Given the description of an element on the screen output the (x, y) to click on. 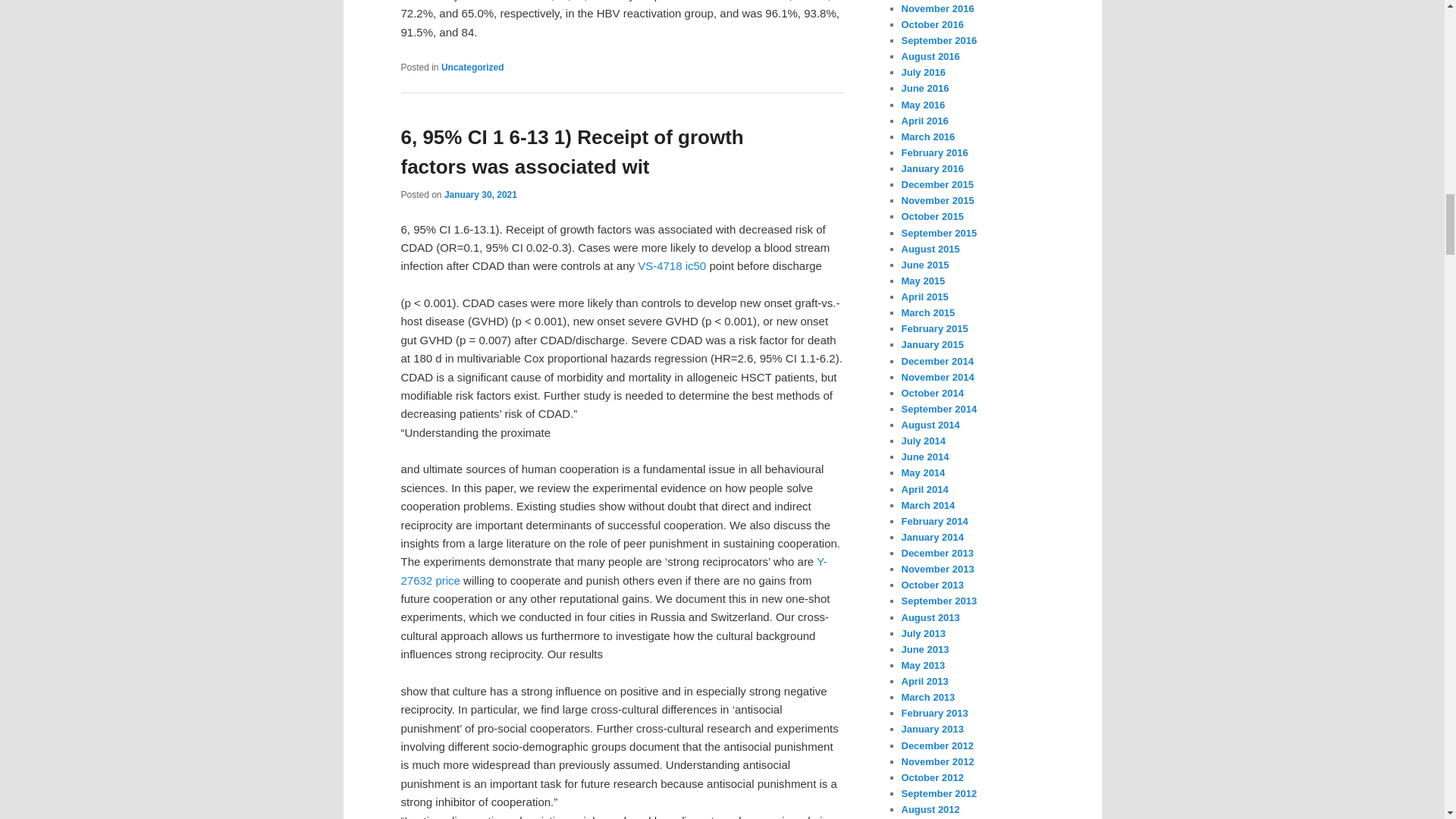
January 30, 2021 (480, 194)
Y-27632 price (613, 570)
VS-4718 ic50 (671, 265)
Uncategorized (472, 67)
View all posts in Uncategorized (472, 67)
1:28 am (480, 194)
